Given the description of an element on the screen output the (x, y) to click on. 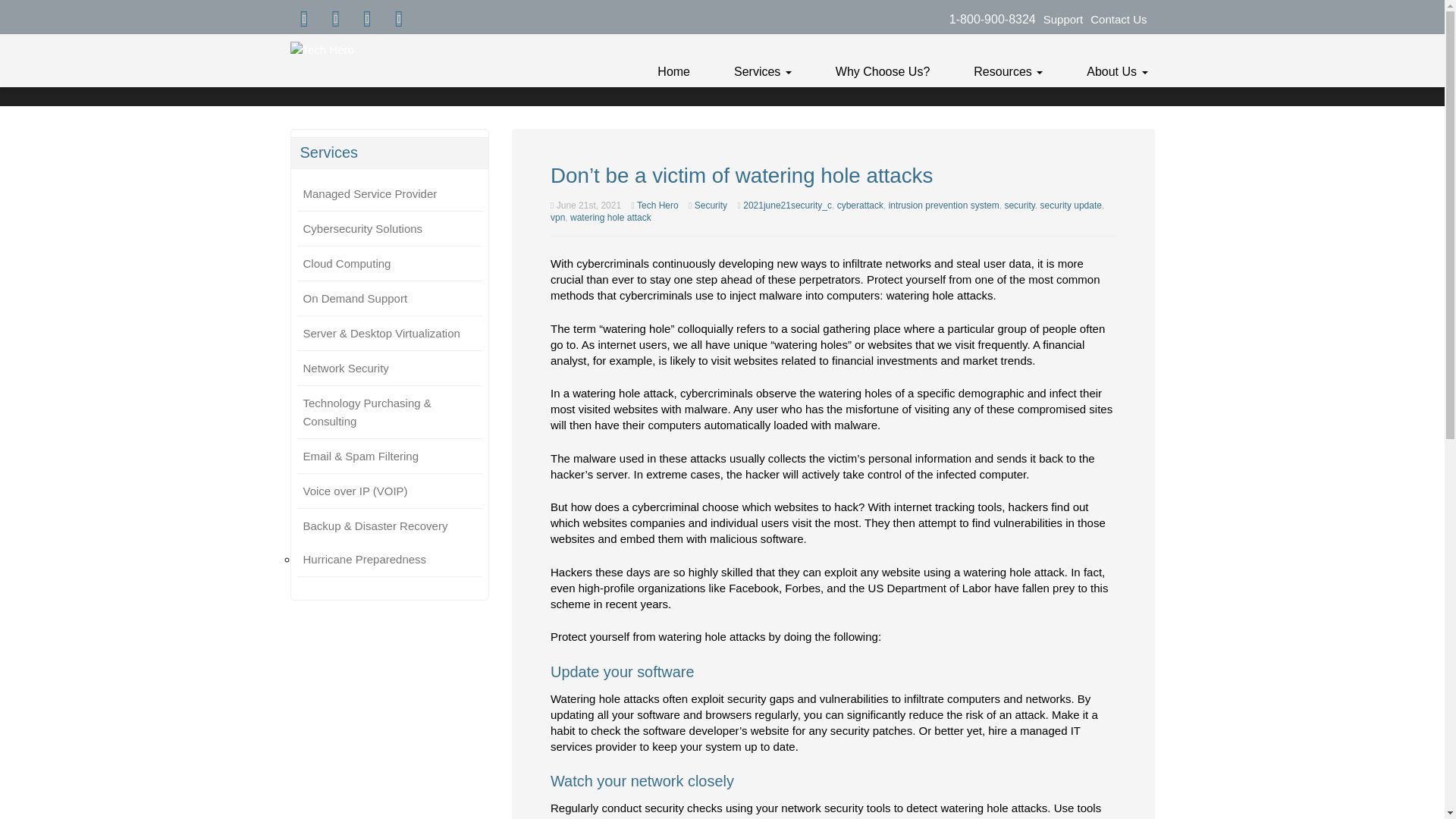
About Us (1117, 71)
Security (710, 204)
Resources (1007, 71)
Services (761, 71)
Posts by Tech Hero (657, 204)
Support (1063, 19)
Tech Hero (657, 204)
Contact Us (1118, 19)
Home (673, 71)
Why Choose Us? (882, 71)
cyberattack (860, 204)
